Given the description of an element on the screen output the (x, y) to click on. 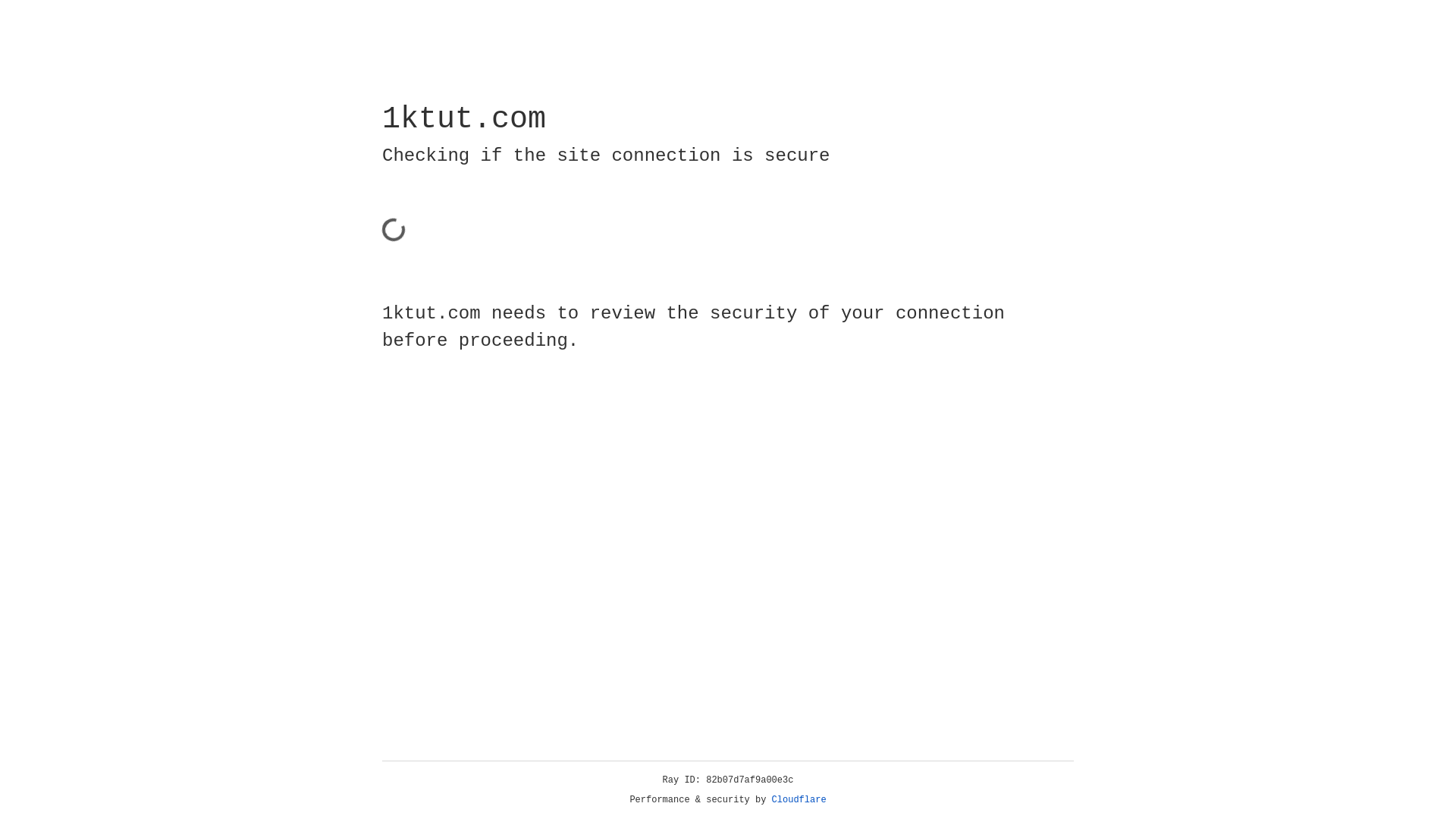
Cloudflare Element type: text (798, 799)
